Given the description of an element on the screen output the (x, y) to click on. 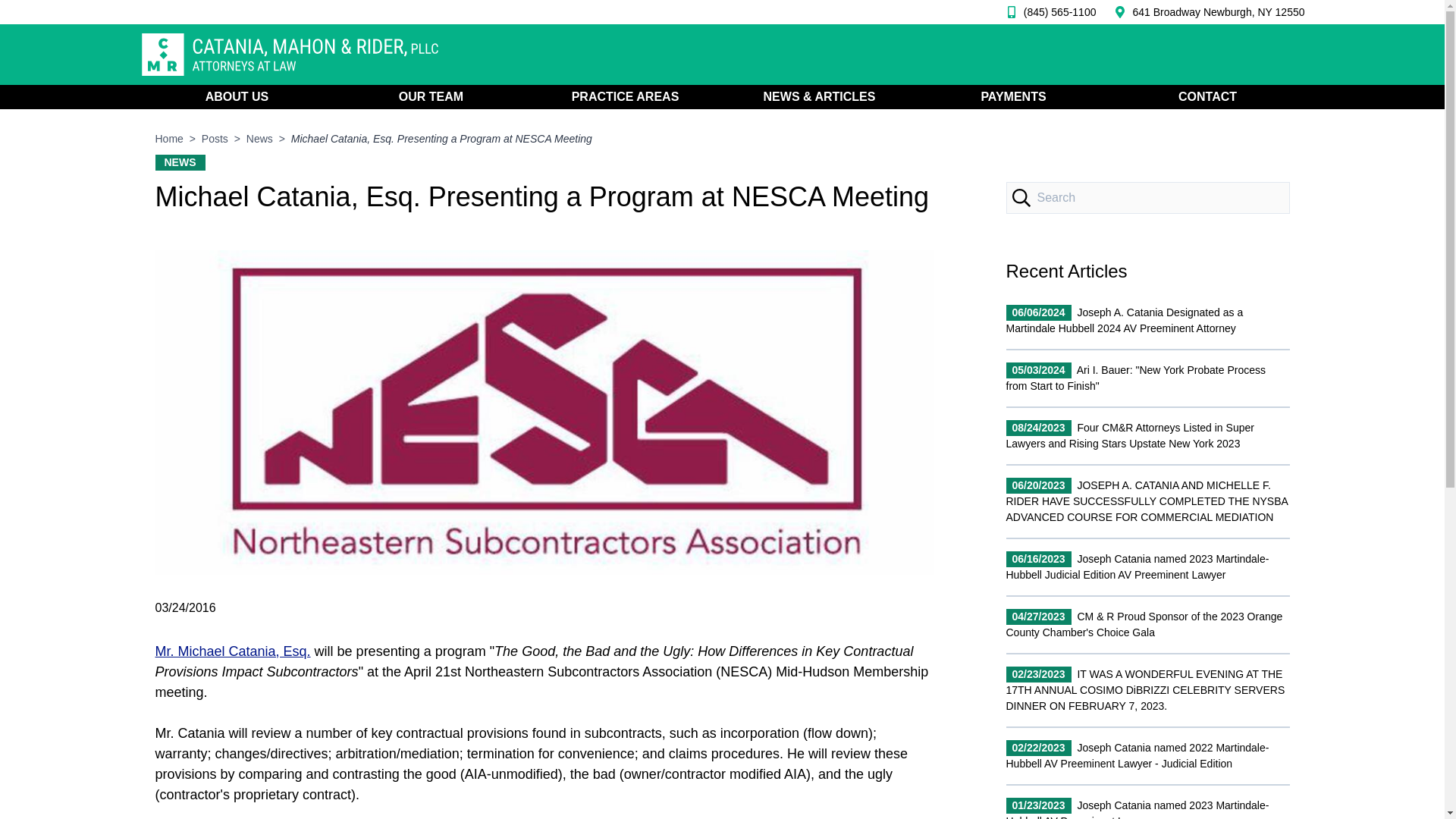
CMR Phone Number (1218, 12)
News (259, 138)
CONTACT (1206, 96)
PAYMENTS (1012, 96)
CMR Phone Number (1047, 12)
Home (168, 138)
NEWS (179, 162)
OUR TEAM (430, 96)
PRACTICE AREAS (624, 96)
Posts (215, 138)
641 Broadway Newburgh, NY 12550 (1218, 12)
Mr. Michael Catania, Esq. (232, 650)
ABOUT US (236, 96)
